Given the description of an element on the screen output the (x, y) to click on. 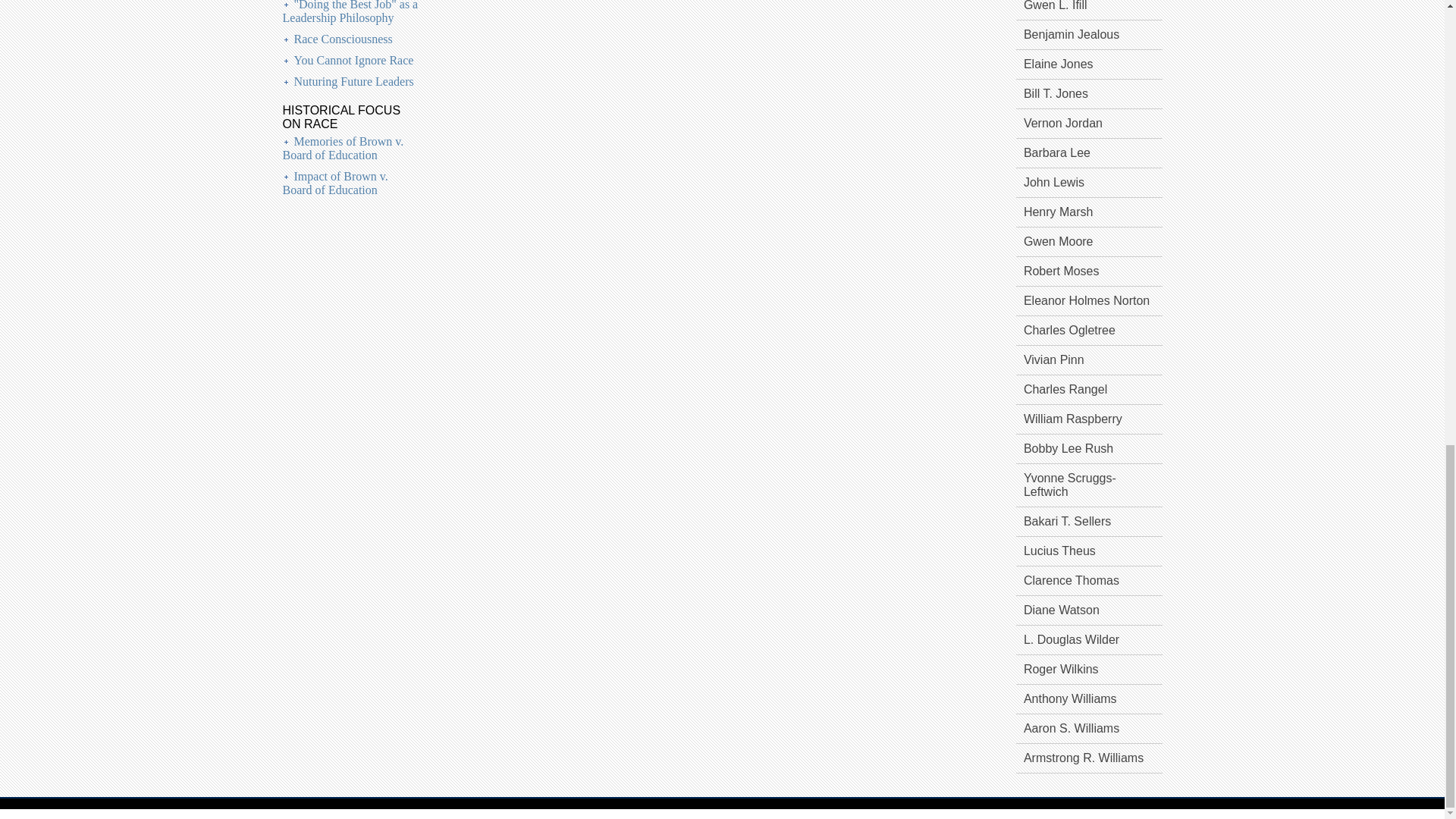
Nuturing Future Leaders (353, 81)
Race Consciousness (343, 38)
"Doing the Best Job" as a Leadership Philosophy (349, 12)
Memories of Brown v. Board of Education (342, 148)
You Cannot Ignore Race (353, 60)
Impact of Brown v. Board of Education (334, 182)
